Given the description of an element on the screen output the (x, y) to click on. 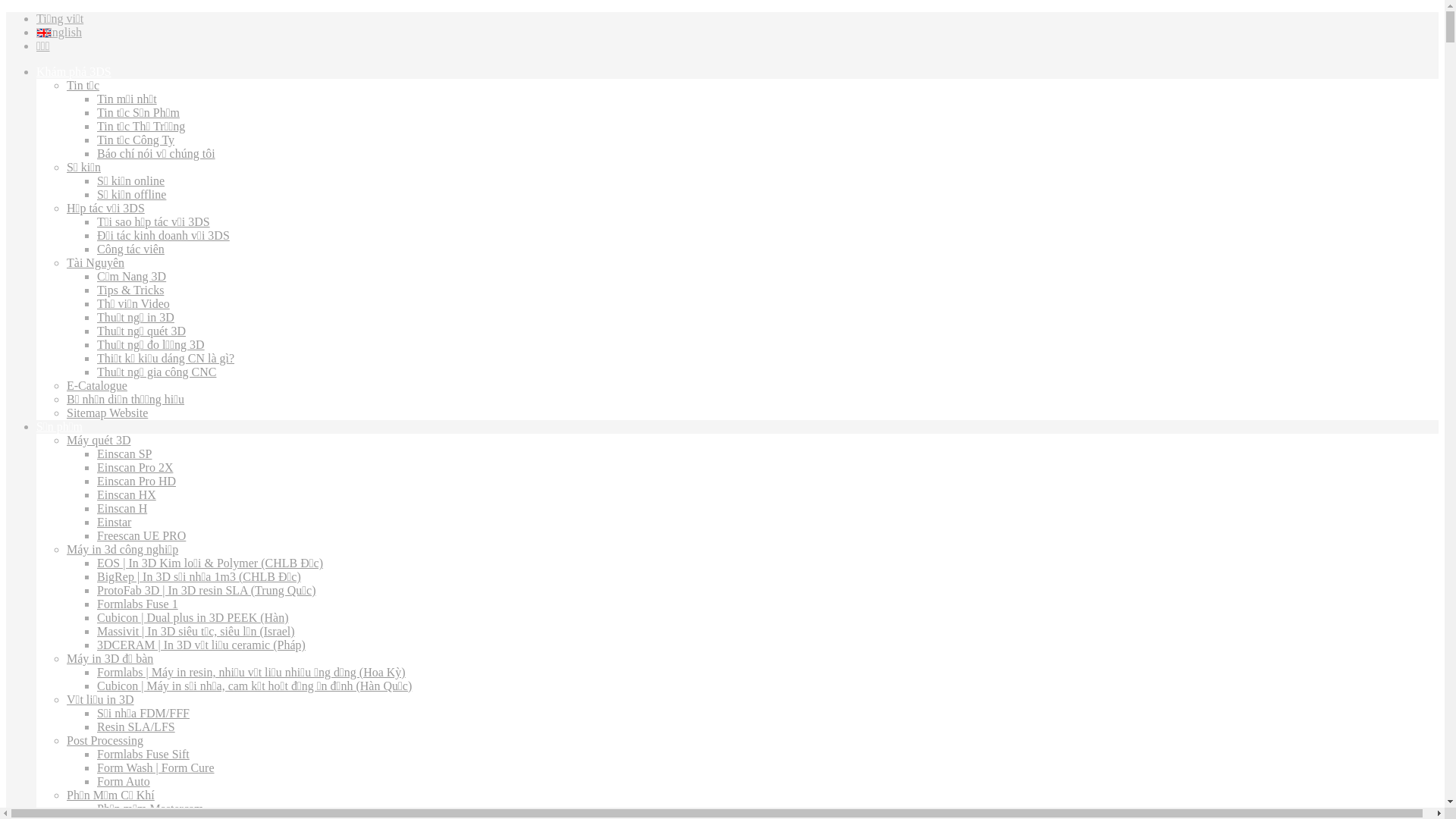
E-Catalogue Element type: text (96, 385)
English Element type: text (62, 31)
Freescan UE PRO Element type: text (141, 535)
Einstar Element type: text (114, 521)
Resin SLA/LFS Element type: text (136, 726)
Sitemap Website Element type: text (106, 412)
Formlabs Fuse 1 Element type: text (137, 603)
Einscan Pro 2X Element type: text (134, 467)
Tips & Tricks Element type: text (130, 289)
Einscan HX Element type: text (126, 494)
Form Auto Element type: text (123, 781)
Post Processing Element type: text (104, 740)
Formlabs Fuse Sift Element type: text (143, 753)
Einscan H Element type: text (122, 508)
Einscan Pro HD Element type: text (136, 480)
Einscan SP Element type: text (124, 453)
Form Wash | Form Cure Element type: text (155, 767)
